Given the description of an element on the screen output the (x, y) to click on. 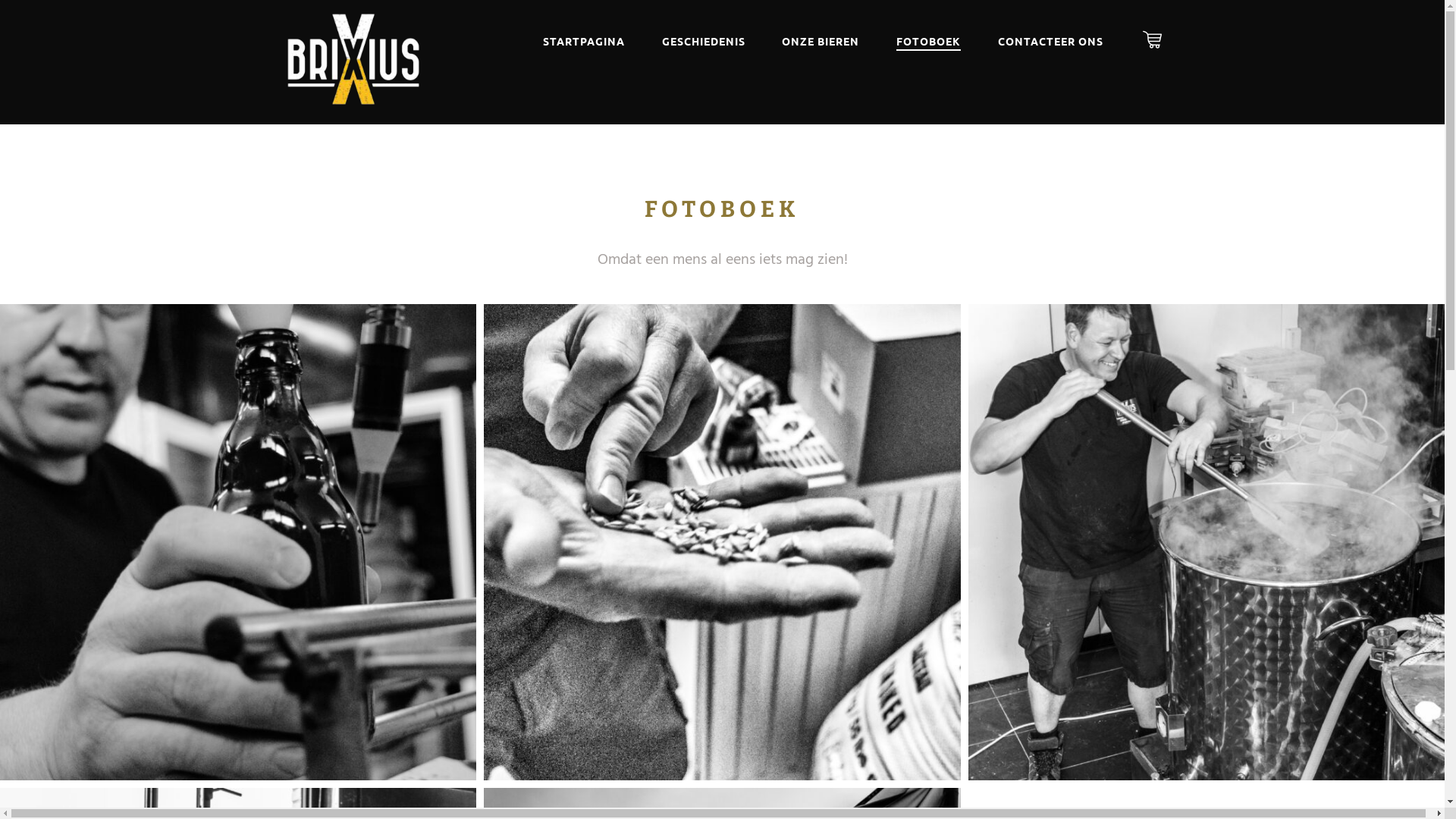
CONTACTEER ONS Element type: text (1050, 34)
Roeren Element type: hover (1206, 542)
Flesjes vullen Element type: hover (238, 542)
Zaadjes tellen Element type: hover (721, 542)
ONZE BIEREN Element type: text (820, 34)
GESCHIEDENIS Element type: text (703, 34)
FOTOBOEK Element type: text (928, 34)
STARTPAGINA Element type: text (583, 34)
